Given the description of an element on the screen output the (x, y) to click on. 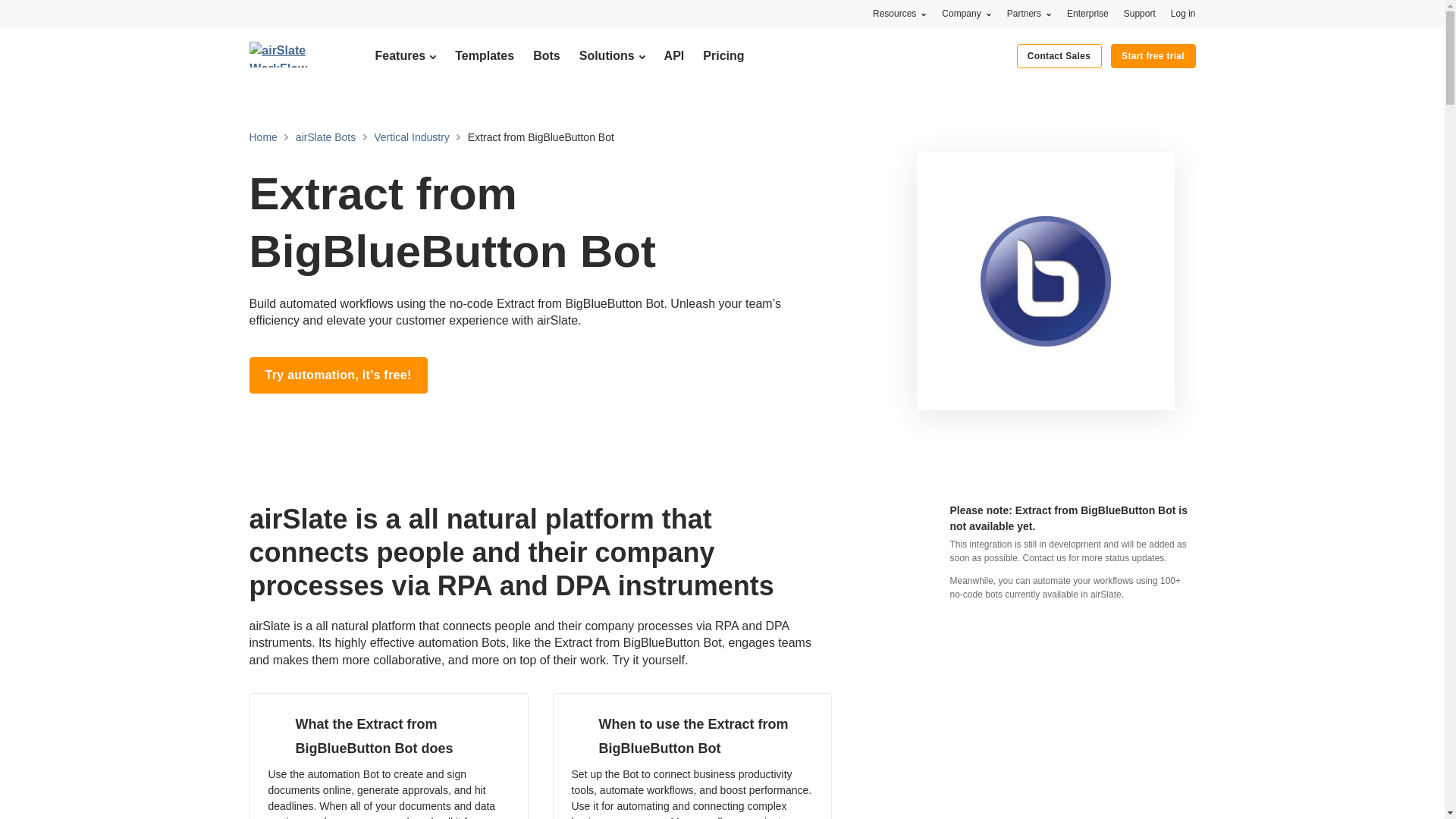
Support (1140, 13)
Resources (899, 13)
Company (966, 13)
Log in (1182, 13)
Templates (483, 55)
Partners (1029, 13)
Enterprise (1087, 13)
